Given the description of an element on the screen output the (x, y) to click on. 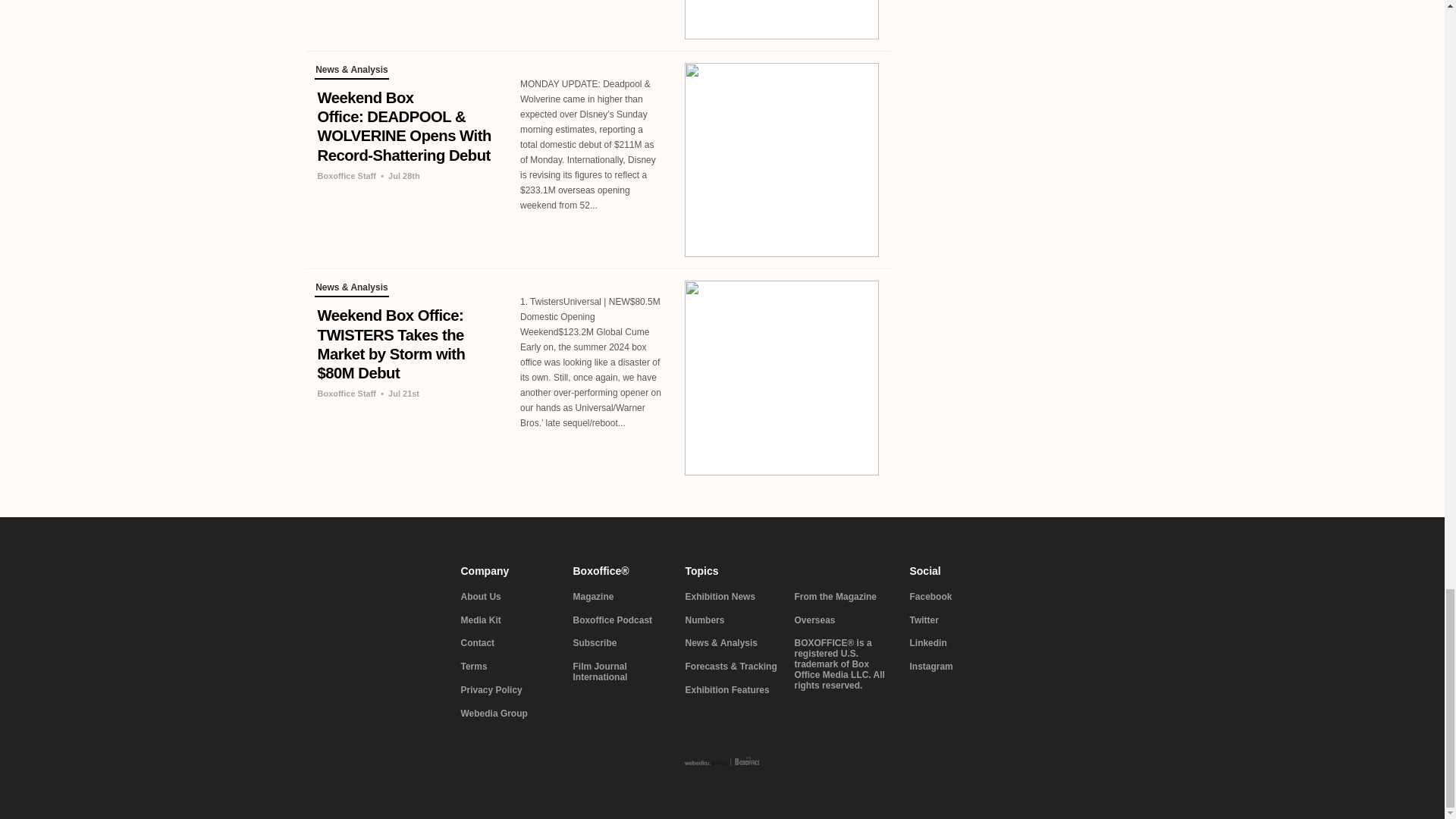
Subscribe (620, 643)
Media Kit (508, 620)
Boxoffice Podcast (620, 620)
Magazine (620, 597)
Webedia Group (508, 714)
About Us (508, 597)
Film Journal International (620, 672)
Company (508, 571)
Contact (508, 643)
Privacy Policy (508, 690)
